Given the description of an element on the screen output the (x, y) to click on. 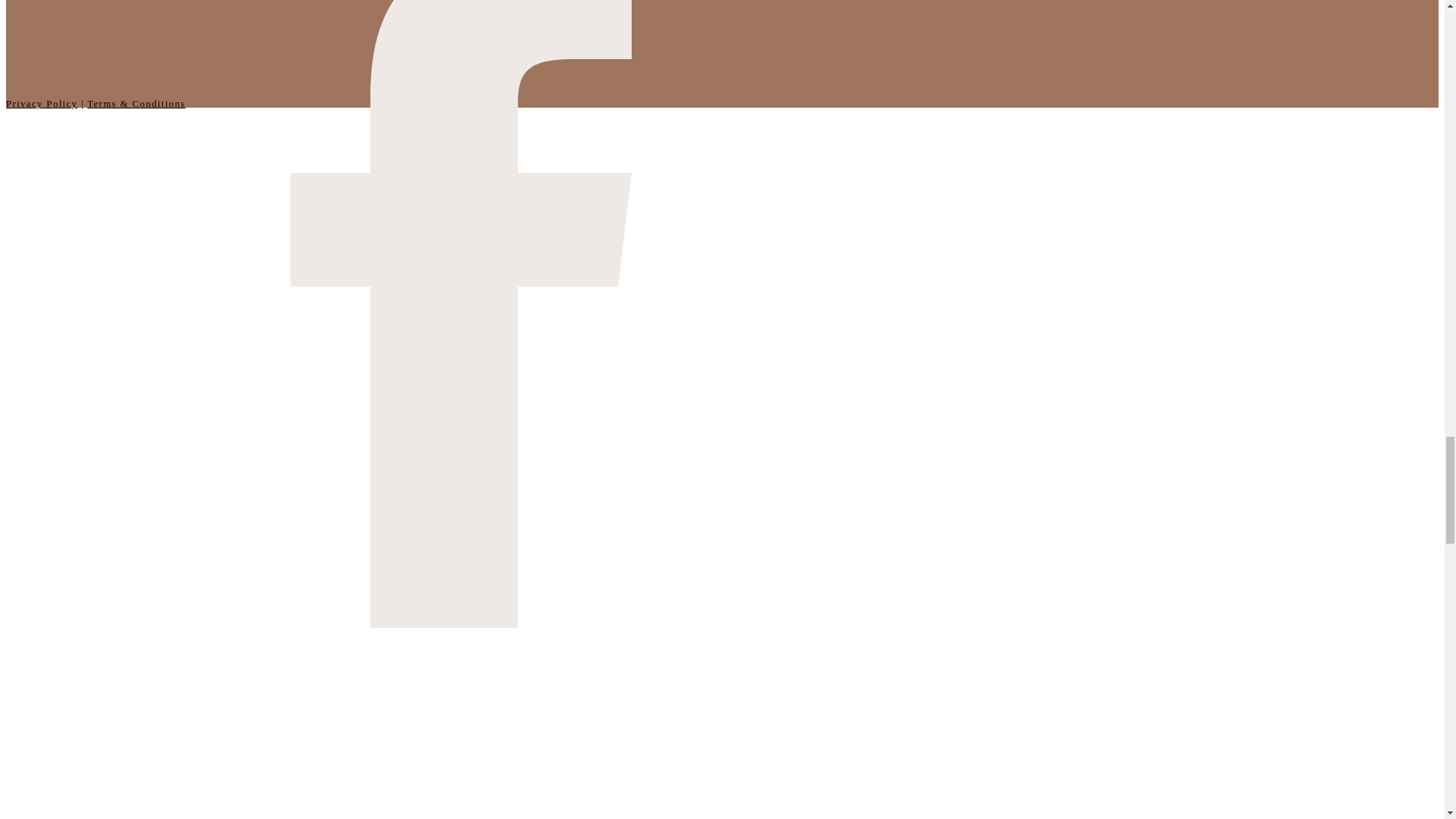
Privacy Policy (41, 102)
